Given the description of an element on the screen output the (x, y) to click on. 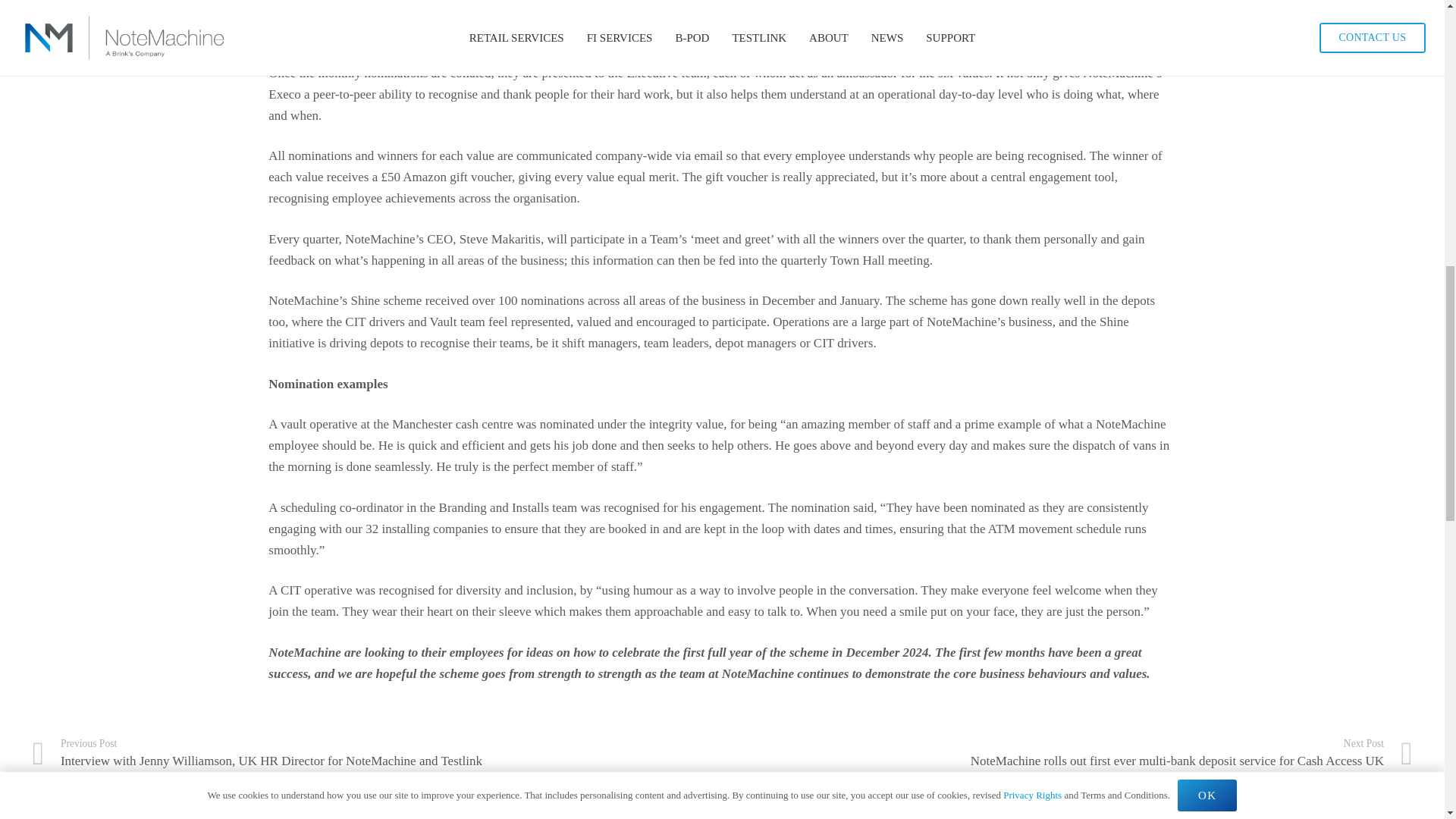
Back to top (1413, 34)
